Given the description of an element on the screen output the (x, y) to click on. 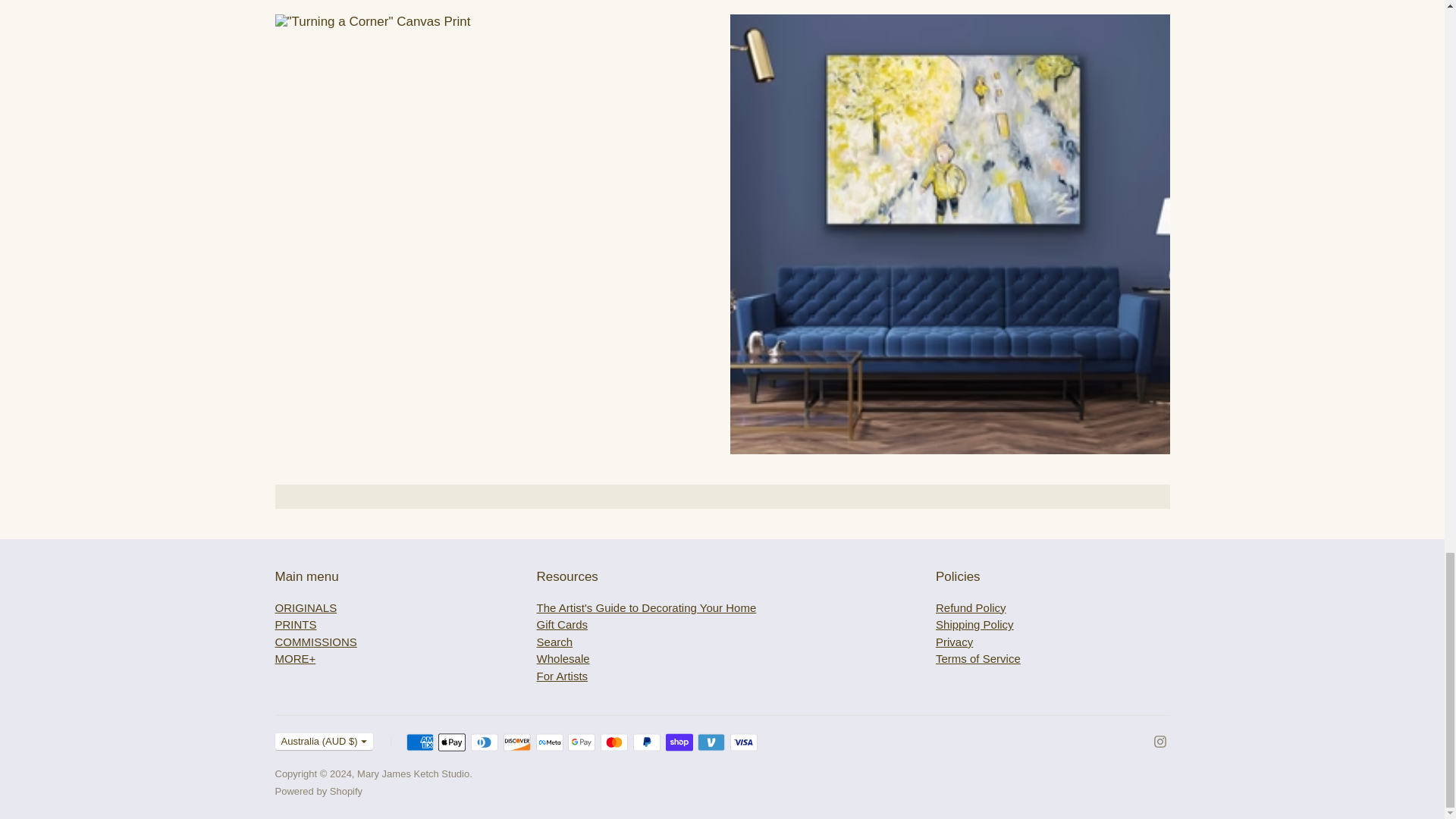
Visa (743, 742)
Apple Pay (451, 742)
Meta Pay (549, 742)
Diners Club (483, 742)
Google Pay (581, 742)
Venmo (711, 742)
Mastercard (613, 742)
Shop Pay (679, 742)
PayPal (647, 742)
American Express (419, 742)
Discover (517, 742)
